Given the description of an element on the screen output the (x, y) to click on. 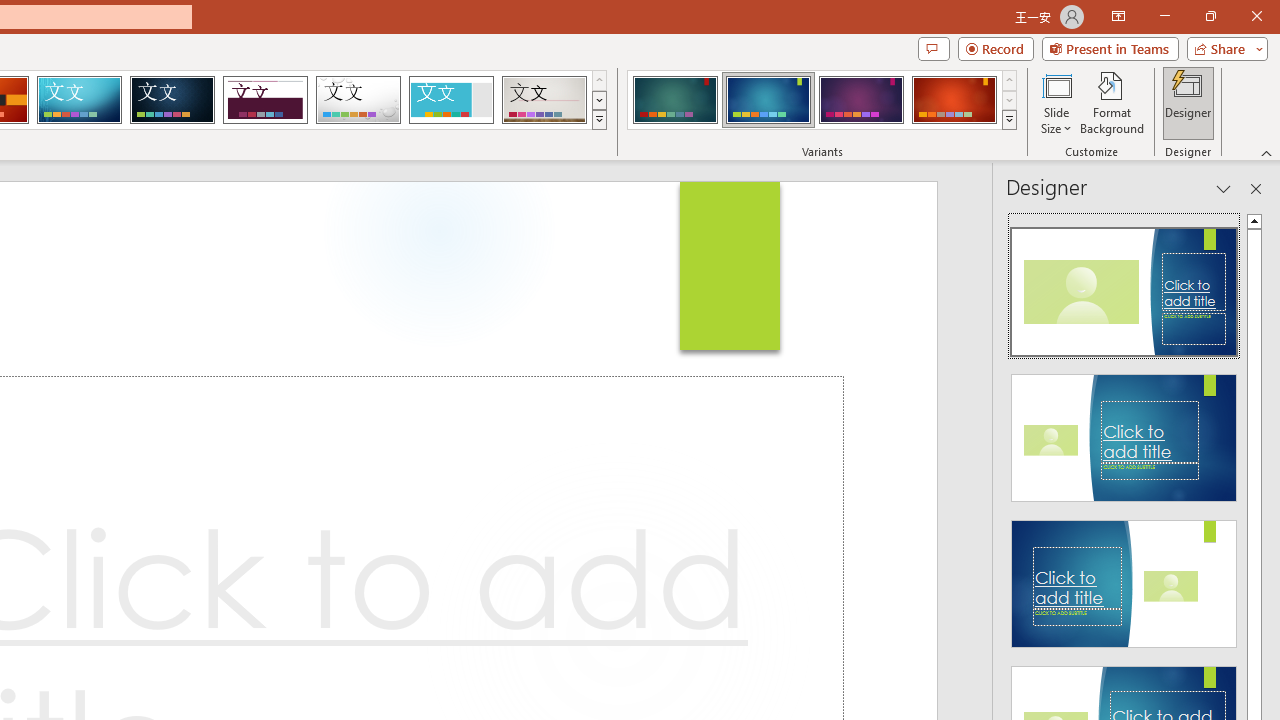
Gallery Loading Preview... (544, 100)
Format Background (1111, 102)
Themes (598, 120)
Dividend Loading Preview... (265, 100)
Slide Size (1056, 102)
Ion Variant 4 (953, 100)
Circuit Loading Preview... (79, 100)
